Given the description of an element on the screen output the (x, y) to click on. 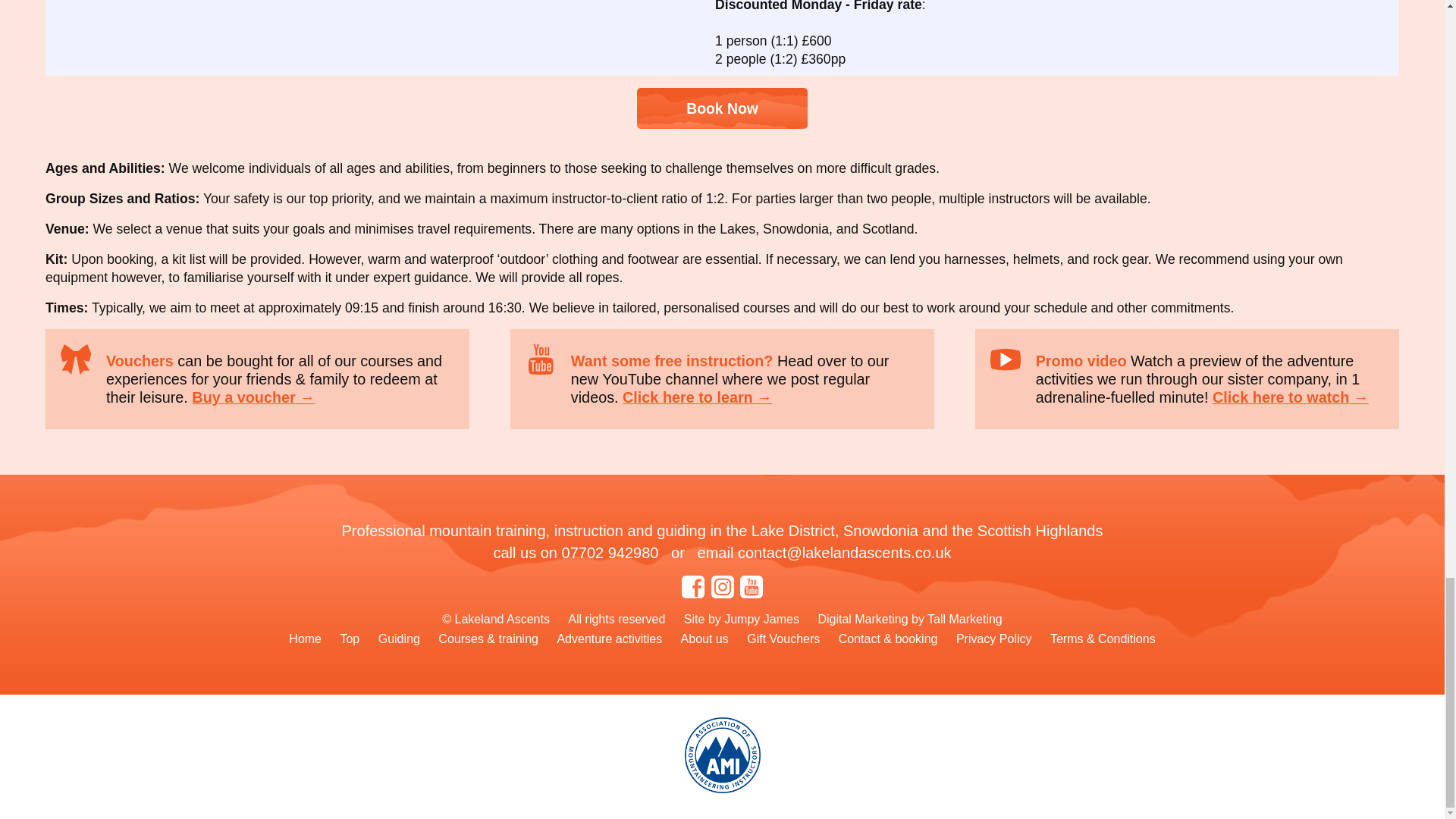
Follow us on Instagram (722, 586)
Association of Mountaineering Instructors (722, 755)
Subscribe on YouTube (750, 586)
Follow us on Facebook (692, 586)
